Given the description of an element on the screen output the (x, y) to click on. 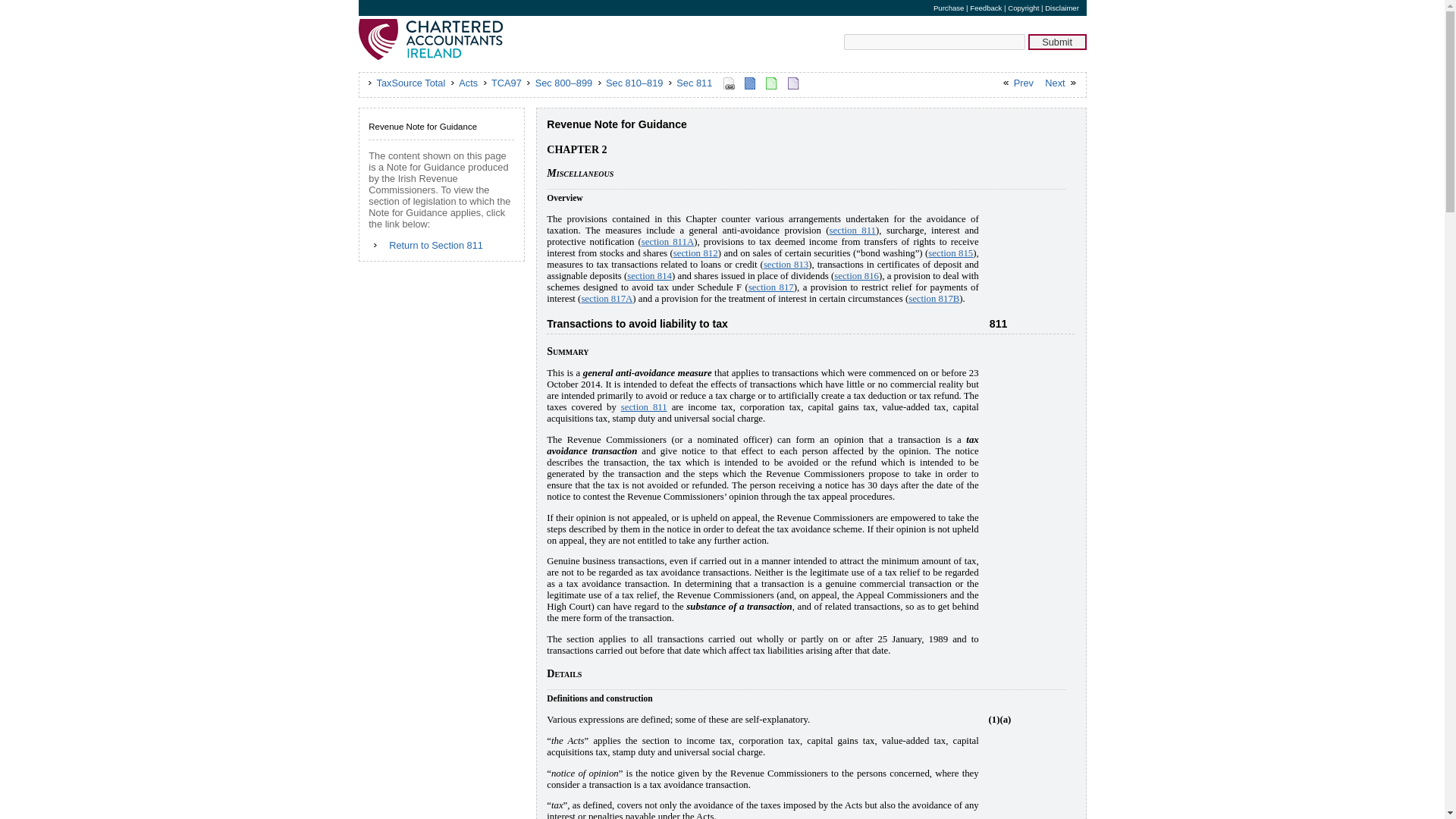
section 811 (643, 407)
Disclaimer (1061, 8)
section 811 (852, 230)
TCA97 (505, 82)
section 811A (668, 241)
Submit (1056, 41)
section 813 (785, 264)
list of pages linked to this page (728, 82)
section 817 (770, 286)
Submit (1056, 41)
